Given the description of an element on the screen output the (x, y) to click on. 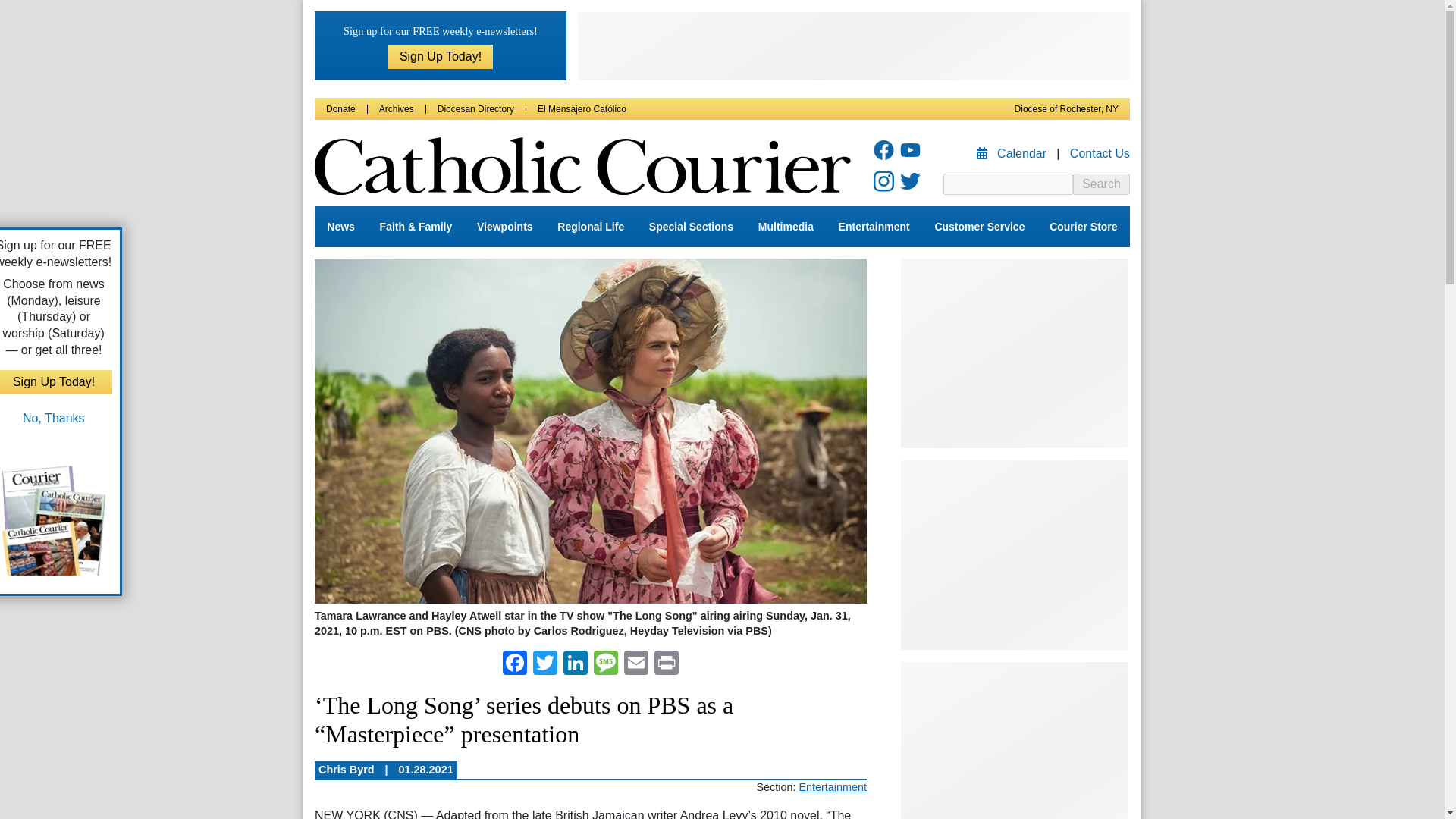
3rd party ad content (853, 46)
Search (1101, 183)
Contact Us (1099, 153)
LinkedIn (575, 664)
Archives (395, 108)
Special Sections (691, 226)
Diocesan Directory (475, 108)
Sign Up Today! (440, 56)
Email (635, 664)
3rd party ad content (1014, 352)
